Given the description of an element on the screen output the (x, y) to click on. 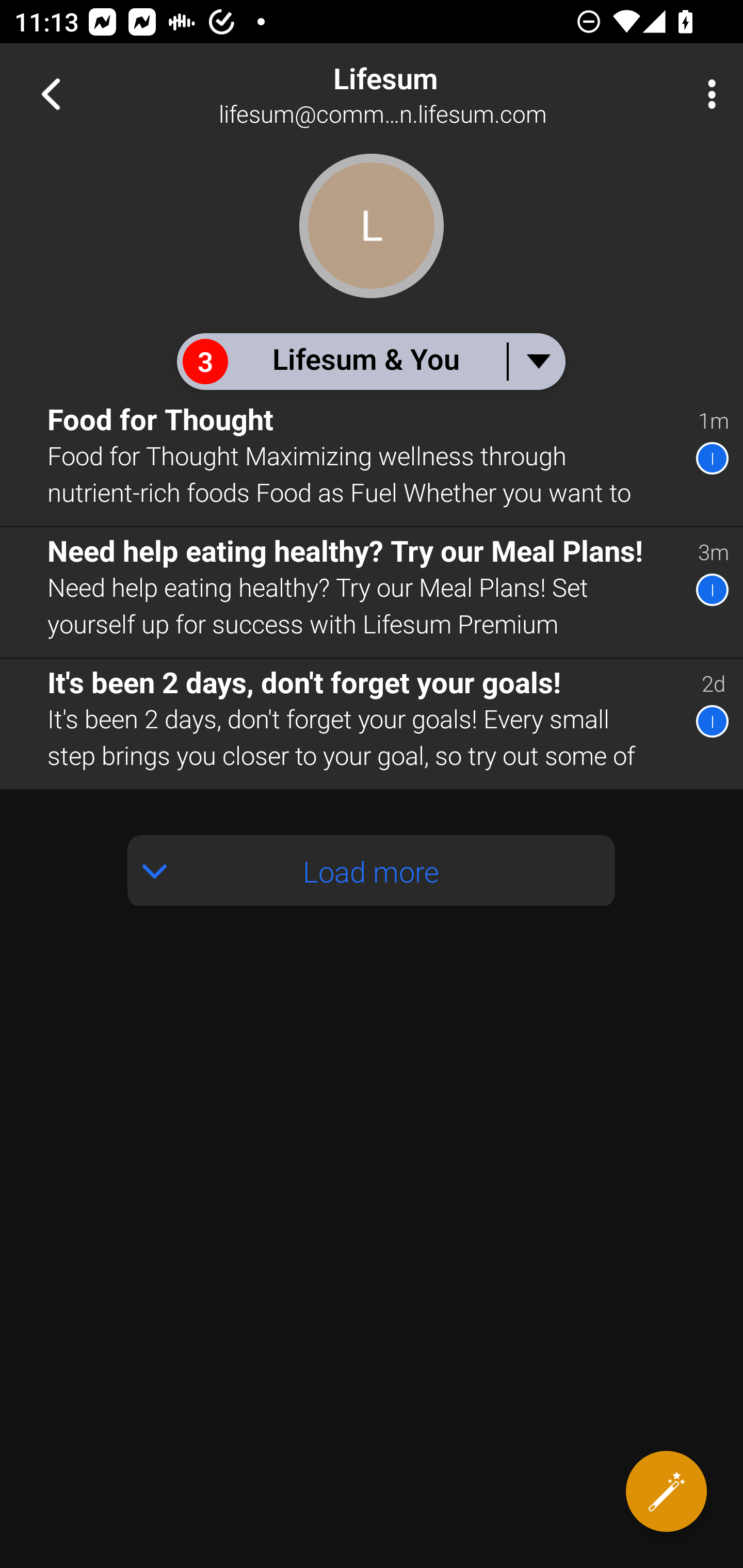
Navigate up (50, 93)
Lifesum lifesum@communication.lifesum.com (436, 93)
More Options (706, 93)
3 Lifesum & You (370, 361)
Load more (371, 870)
